Given the description of an element on the screen output the (x, y) to click on. 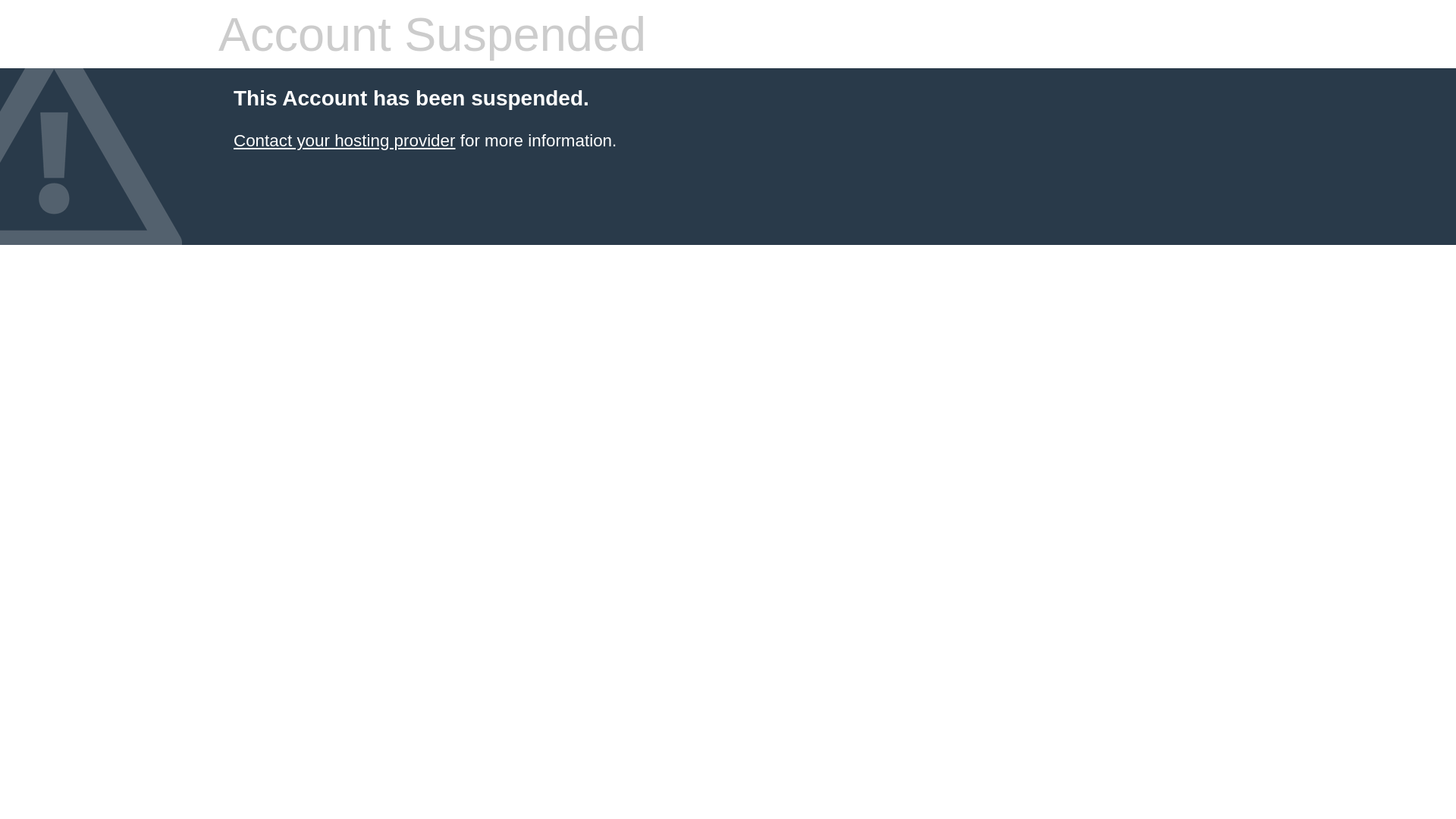
Contact your hosting provider Element type: text (344, 140)
